Given the description of an element on the screen output the (x, y) to click on. 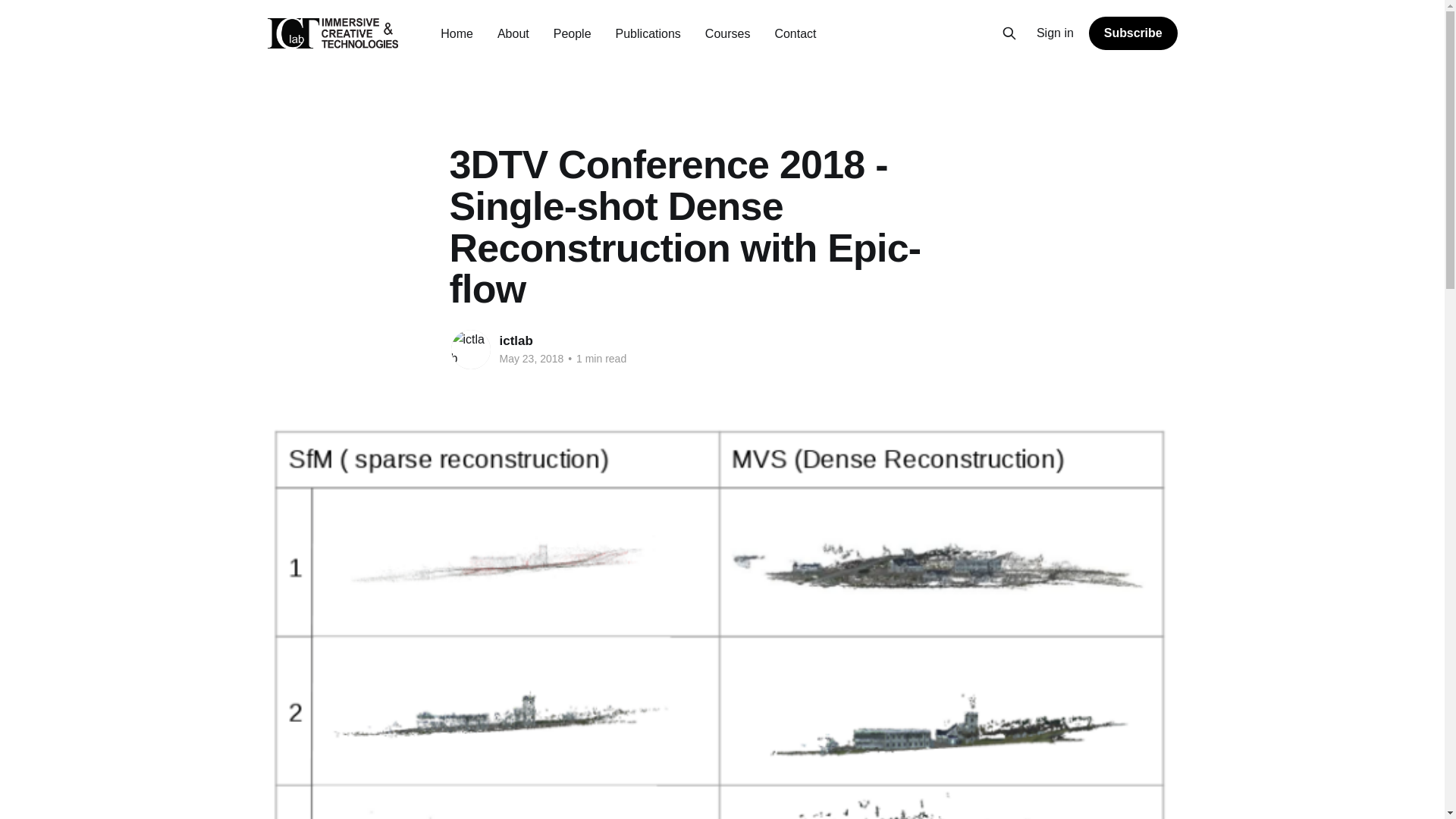
Home (457, 33)
ictlab (515, 340)
Sign in (1055, 33)
Contact (794, 33)
People (572, 33)
About (513, 33)
Publications (648, 33)
Courses (727, 33)
Subscribe (1133, 32)
